Given the description of an element on the screen output the (x, y) to click on. 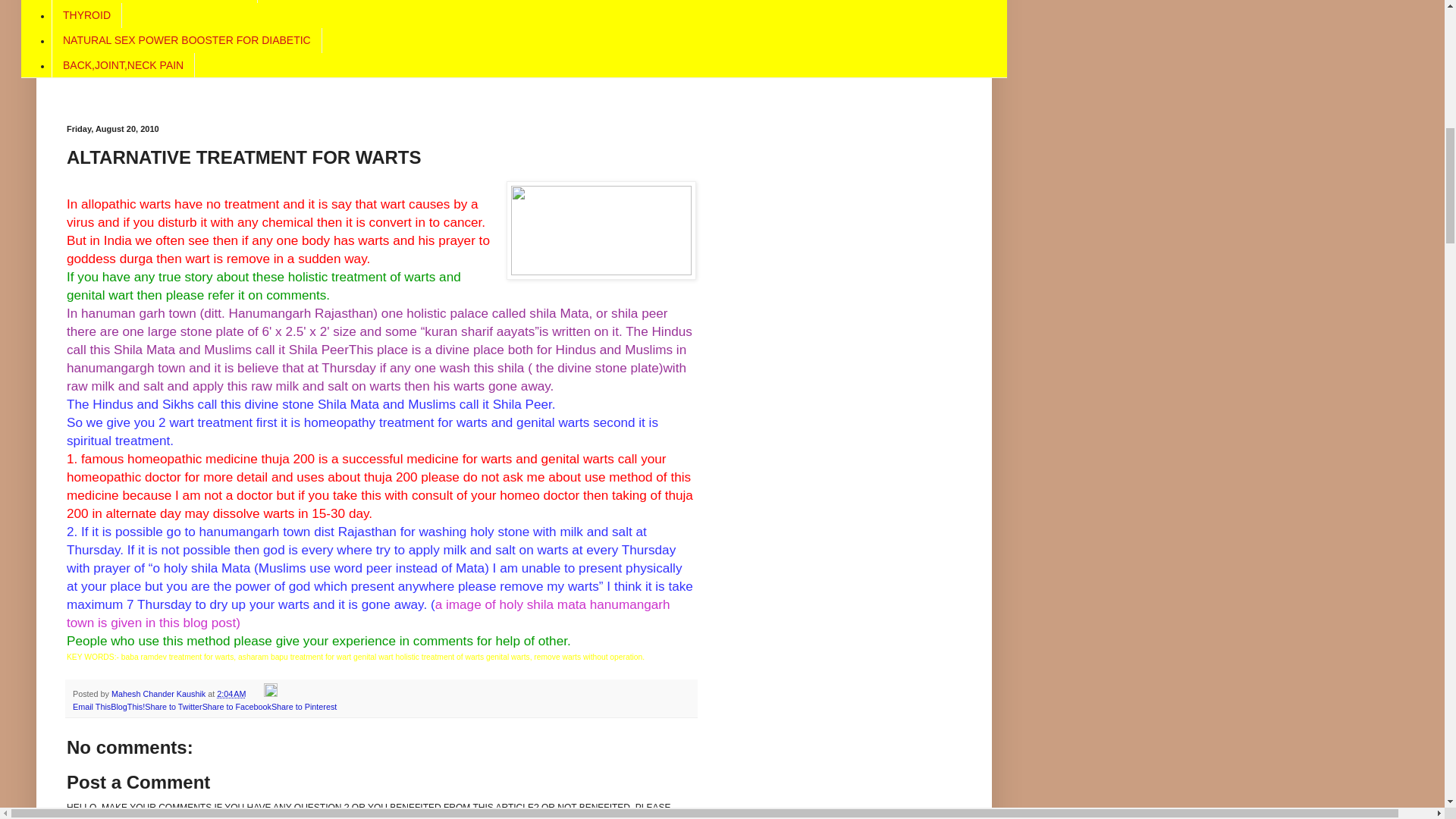
Share to Facebook (236, 706)
Edit Post (270, 693)
BlogThis! (127, 706)
Share to Twitter (173, 706)
NATURAL SEX POWER BOOSTER FOR DIABETIC (185, 40)
Share to Twitter (173, 706)
Email Post (255, 693)
BACK,JOINT,NECK PAIN (122, 65)
author profile (160, 693)
permanent link (231, 693)
BlogThis! (127, 706)
THYROID (86, 15)
Share to Pinterest (303, 706)
ASARAM BAPU HERBAL MEDICINES (153, 1)
